Given the description of an element on the screen output the (x, y) to click on. 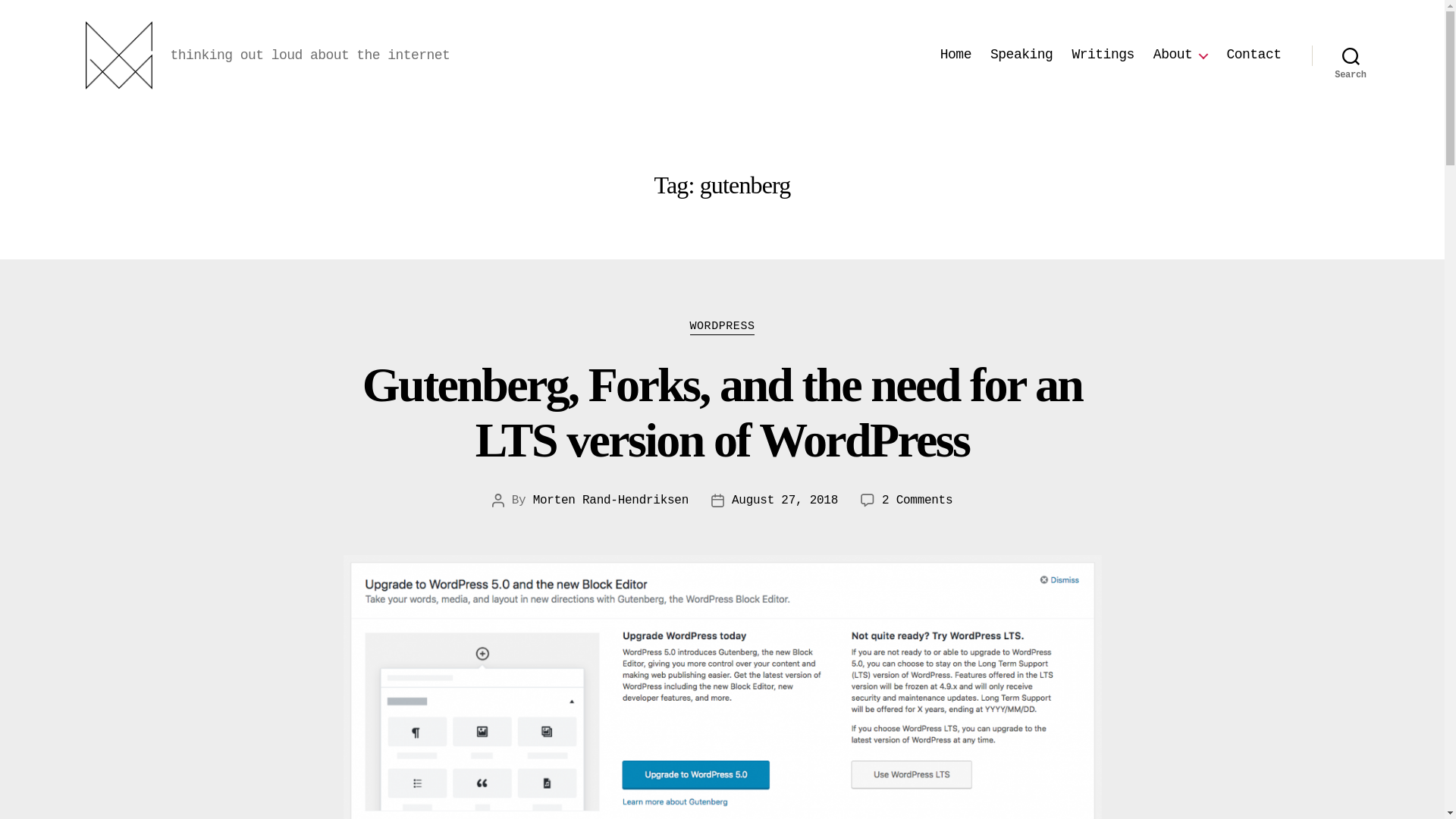
Search (1350, 55)
Speaking (1021, 54)
August 27, 2018 (785, 499)
WORDPRESS (722, 327)
Writings (1102, 54)
About (1180, 54)
Morten Rand-Hendriksen (610, 499)
About Design is Philosophy (1180, 54)
Contact Morten Rand-Hendriksen (1253, 54)
Contact (1253, 54)
Home (955, 54)
